Given the description of an element on the screen output the (x, y) to click on. 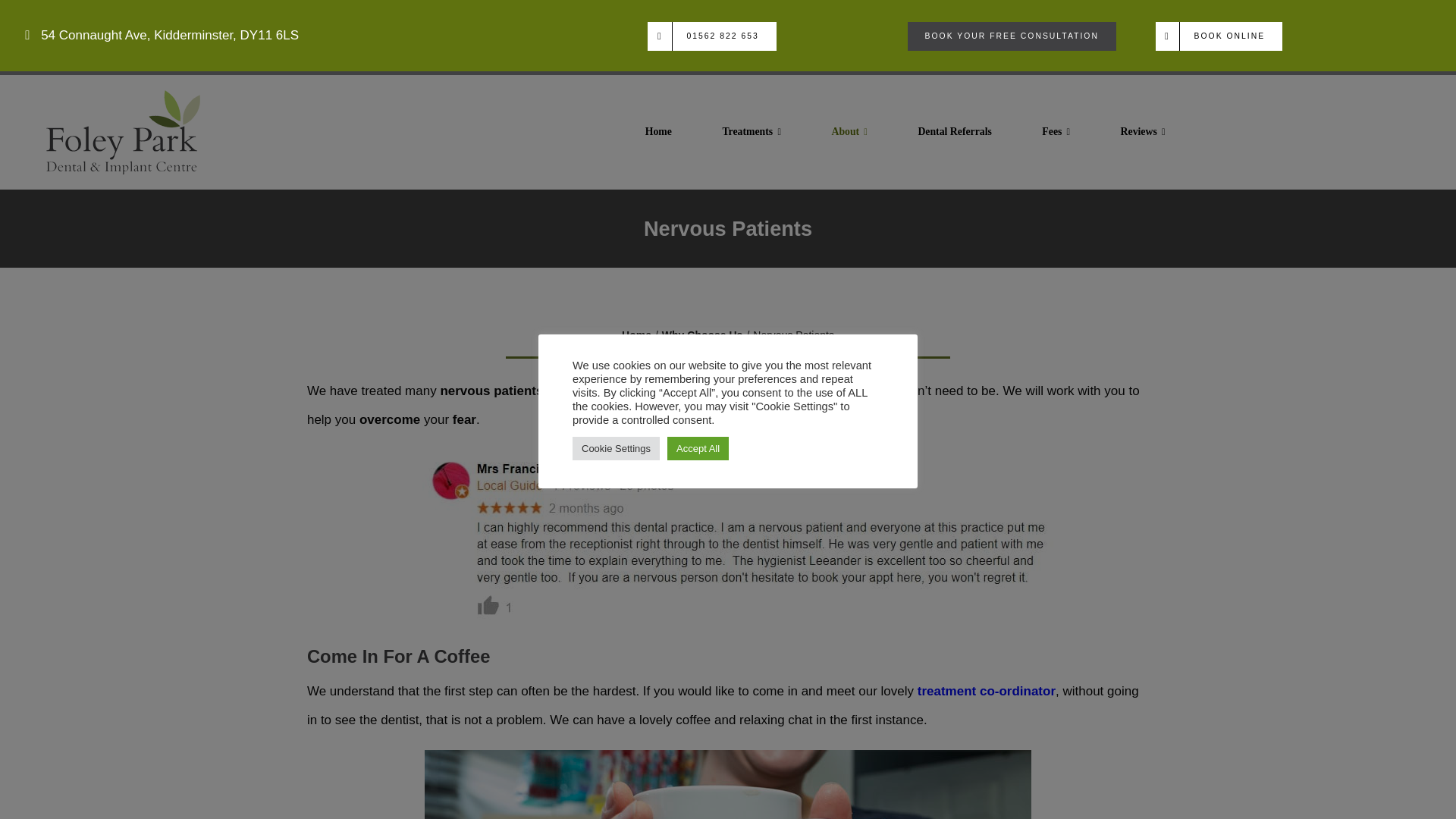
Treatments (751, 132)
BOOK YOUR FREE CONSULTATION (1011, 36)
BOOK ONLINE (1219, 36)
01562 822 653 (711, 36)
